Given the description of an element on the screen output the (x, y) to click on. 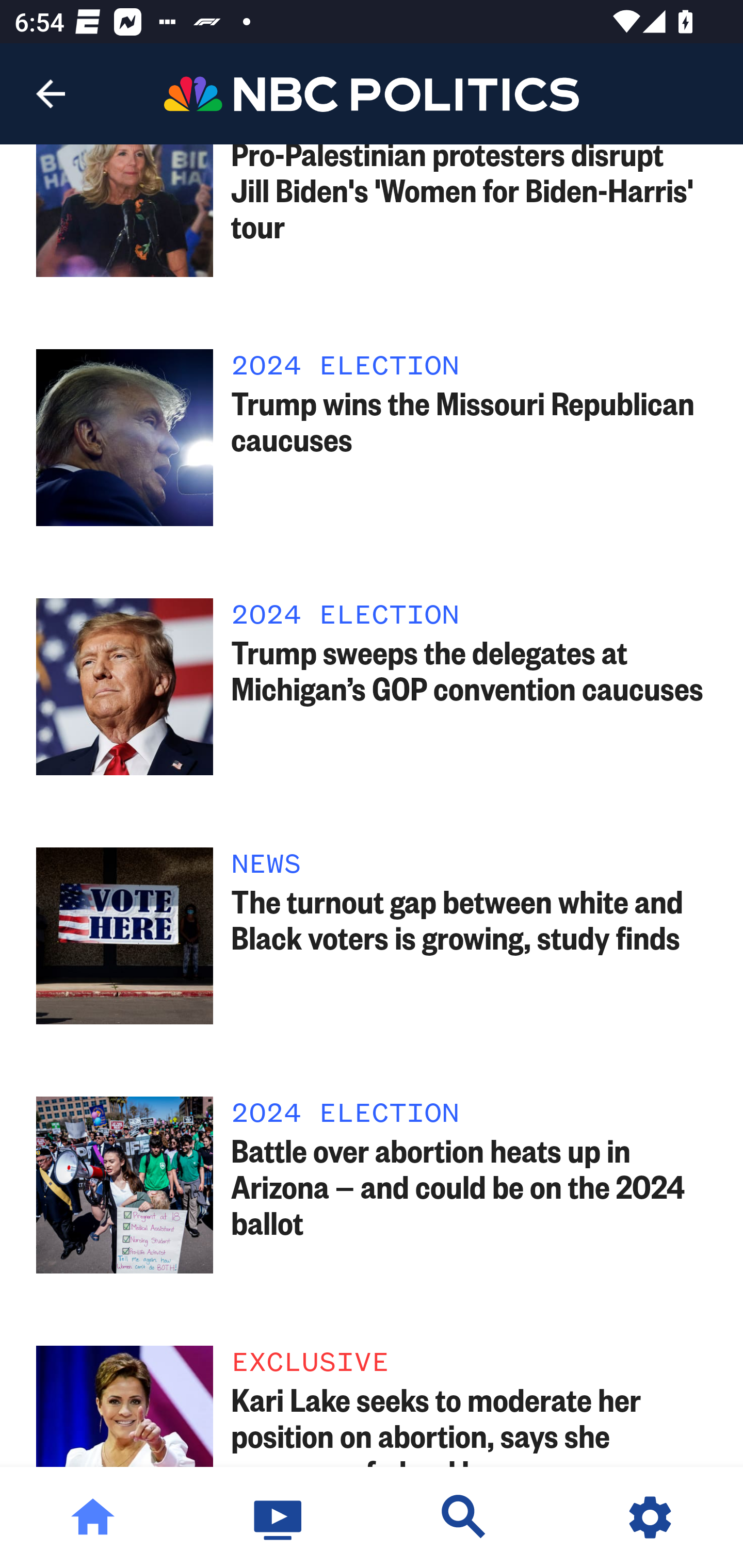
Navigate up (50, 93)
Watch (278, 1517)
Discover (464, 1517)
Settings (650, 1517)
